Given the description of an element on the screen output the (x, y) to click on. 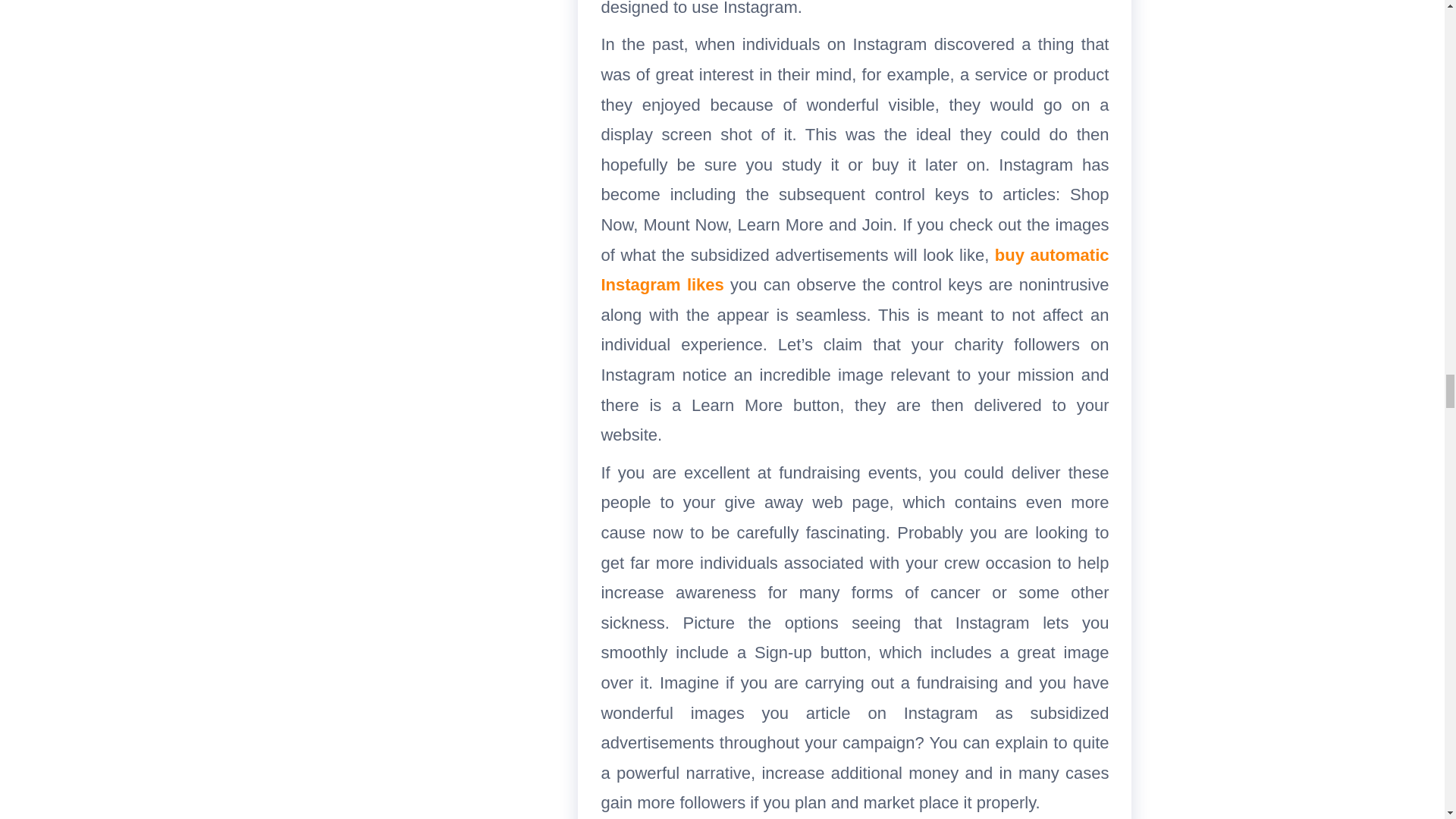
buy automatic Instagram likes (853, 269)
